Given the description of an element on the screen output the (x, y) to click on. 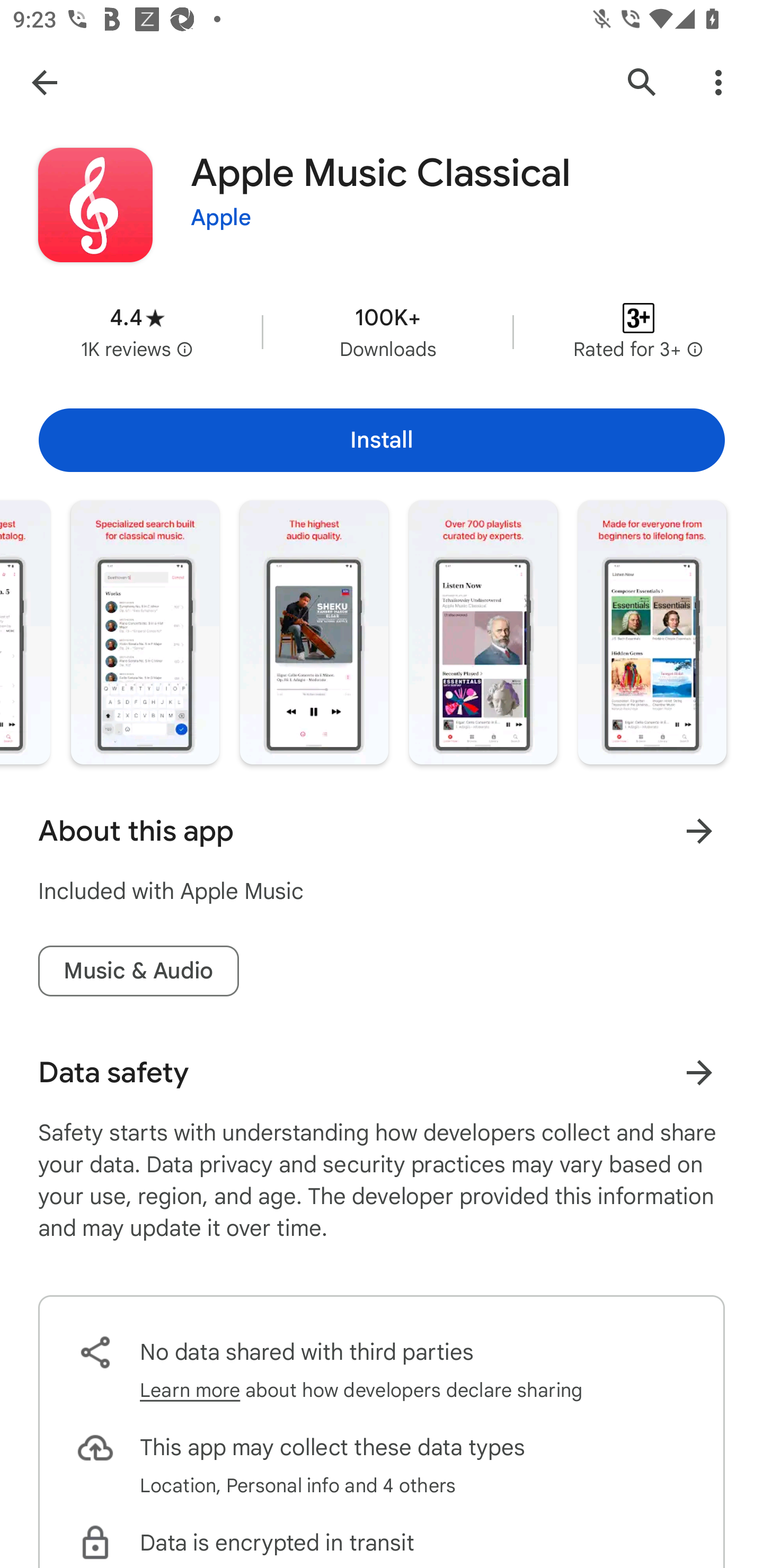
Navigate up (44, 81)
Search Google Play (642, 81)
More Options (718, 81)
Apple (221, 217)
Average rating 4.4 stars in 1 thousand reviews (137, 331)
Content rating Rated for 3+ (638, 331)
Install (381, 439)
Screenshot "3" of "6" (144, 632)
Screenshot "4" of "6" (314, 632)
Screenshot "5" of "6" (482, 632)
Screenshot "6" of "6" (652, 632)
About this app Learn more About this app (381, 830)
Learn more About this app (699, 830)
Music & Audio tag (138, 970)
Data safety Learn more about data safety (381, 1072)
Learn more about data safety (699, 1072)
Learn more about how developers declare sharing (361, 1389)
